Given the description of an element on the screen output the (x, y) to click on. 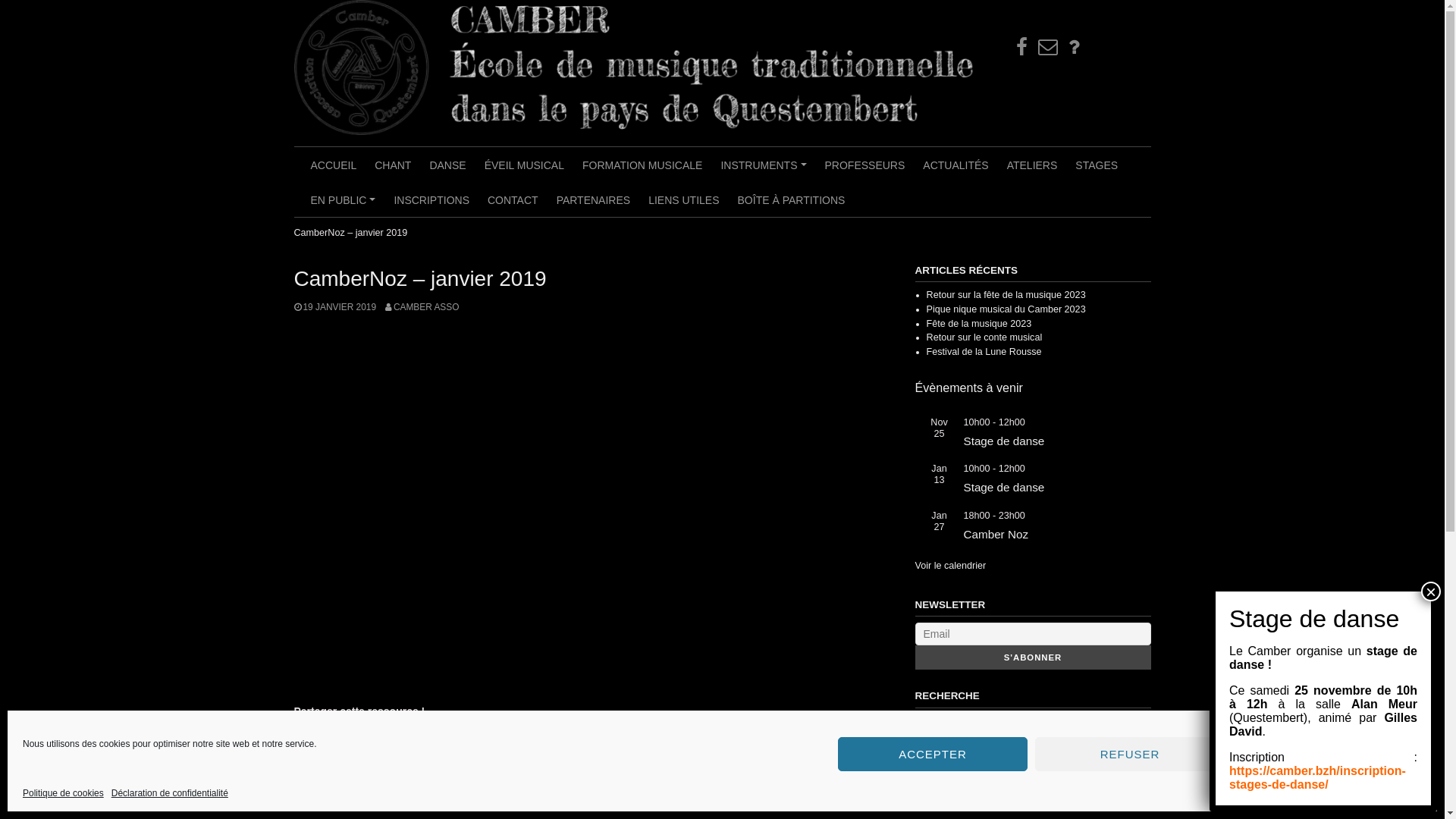
CamberNoz19 Element type: hover (589, 507)
More Element type: hover (435, 732)
Stage de danse Element type: text (1003, 486)
Voir le calendrier Element type: text (949, 565)
+
EN PUBLIC Element type: text (343, 199)
FEST-NOZ Element type: text (618, 777)
Facebook Element type: hover (306, 732)
CAMBER ASSO Element type: text (422, 306)
NEXT POST Element type: text (854, 807)
Instagram Element type: hover (409, 732)
ACCEPTER Element type: text (932, 754)
E-mail Element type: text (1047, 47)
7 septembre 2022 Element type: text (402, 761)
S'abonner Element type: text (1032, 657)
Hide Element type: hover (6, 144)
Twitter Element type: hover (332, 732)
Whatsapp Element type: hover (358, 732)
FORMATION MUSICALE Element type: text (642, 164)
ATELIERS Element type: text (1031, 164)
CONCERT Element type: text (509, 777)
Facebook Element type: text (1021, 47)
Stage de danse Element type: text (1003, 440)
PREVIOUS POST Element type: text (335, 807)
STAGES Element type: text (1096, 164)
Festival de la Lune Rousse Element type: text (983, 351)
ACCUEIL Element type: text (333, 164)
CONTACT Element type: text (512, 199)
Recherche pour : Element type: hover (1032, 728)
Politique de cookies Element type: text (62, 793)
REFUSER Element type: text (1129, 754)
LIENS UTILES Element type: text (683, 199)
Email Element type: hover (384, 732)
Politique de cookies (EU) Element type: text (1073, 47)
Camber Noz Element type: text (995, 533)
https://camber.bzh/inscription-stages-de-danse/ Element type: text (1317, 777)
SPECTACLE Element type: text (672, 777)
19 JANVIER 2019 Element type: text (335, 306)
PARTENAIRES Element type: text (593, 199)
Retour sur le conte musical Element type: text (984, 337)
PROFESSEURS Element type: text (864, 164)
2018-2019 EN PUBLIC Element type: text (403, 777)
INSCRIPTIONS Element type: text (431, 199)
Pique nique musical du Camber 2023 Element type: text (1005, 309)
DANSE Element type: text (447, 164)
CHANT Element type: text (392, 164)
+
INSTRUMENTS Element type: text (763, 164)
